Given the description of an element on the screen output the (x, y) to click on. 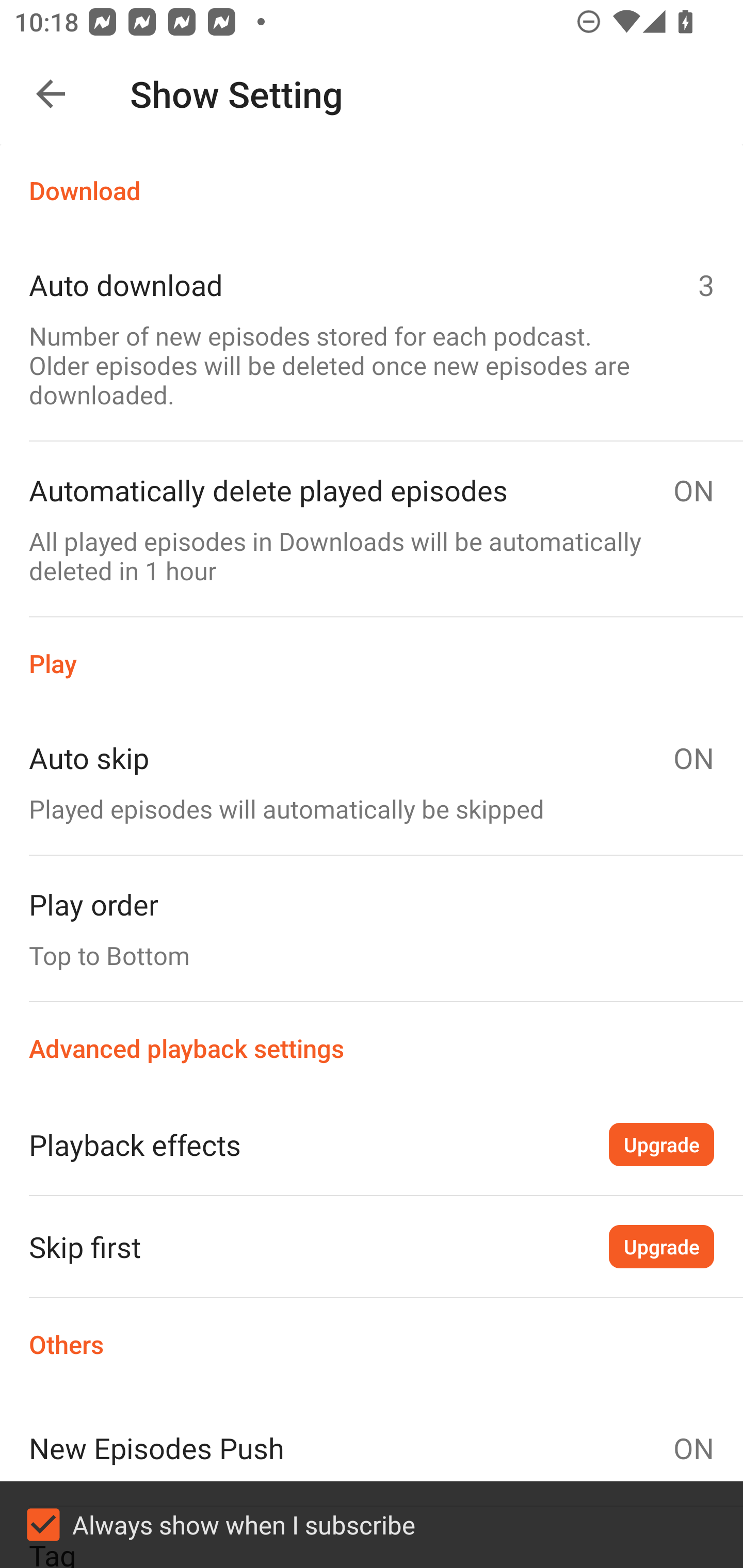
Navigate up (50, 93)
Play order Top to Bottom (371, 928)
Playback effects Upgrade (371, 1144)
Skip first Upgrade (371, 1246)
New Episodes Push ON (371, 1447)
Always show when I subscribe (371, 1524)
